Given the description of an element on the screen output the (x, y) to click on. 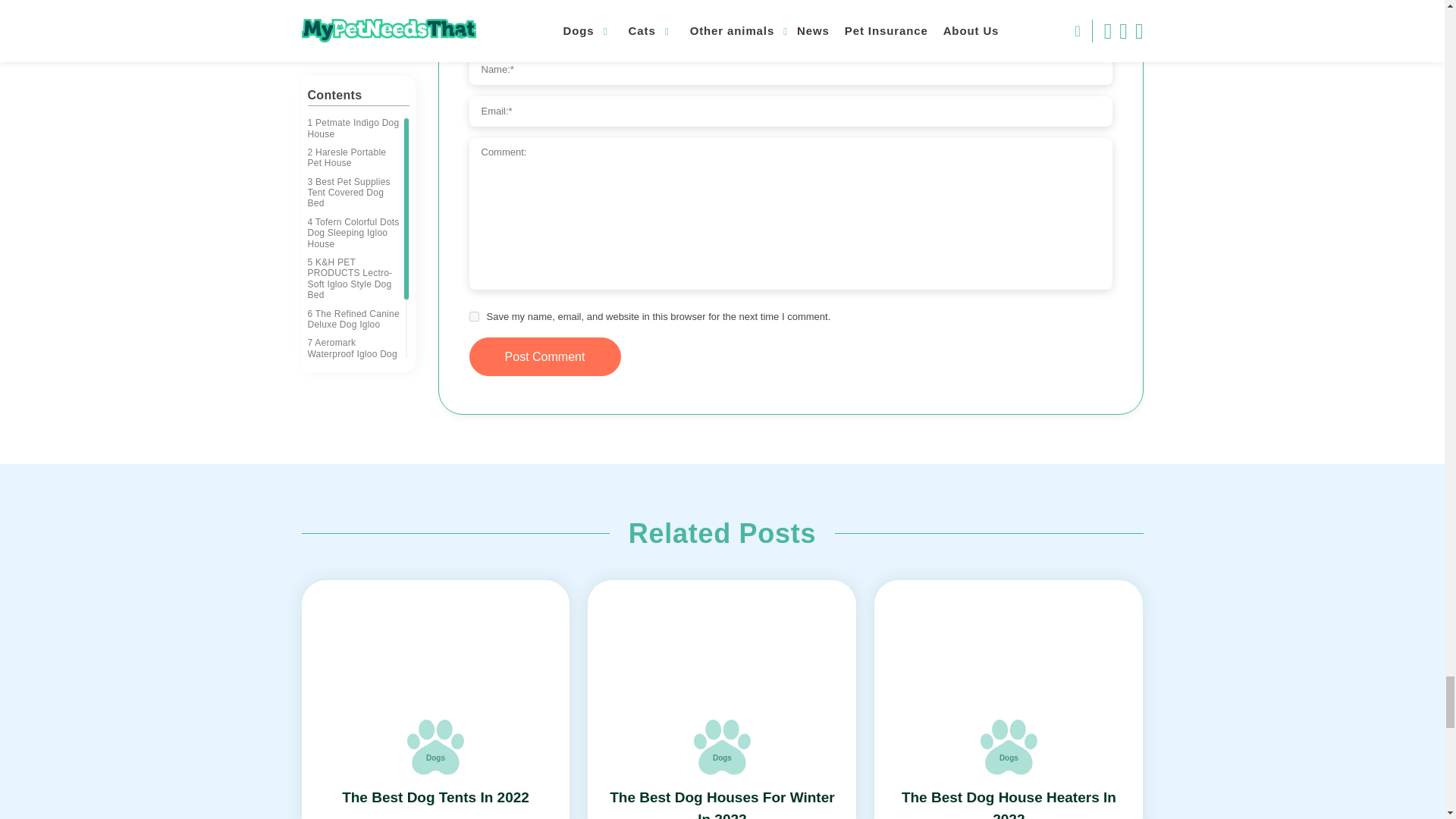
yes (473, 316)
Post Comment (544, 356)
